Given the description of an element on the screen output the (x, y) to click on. 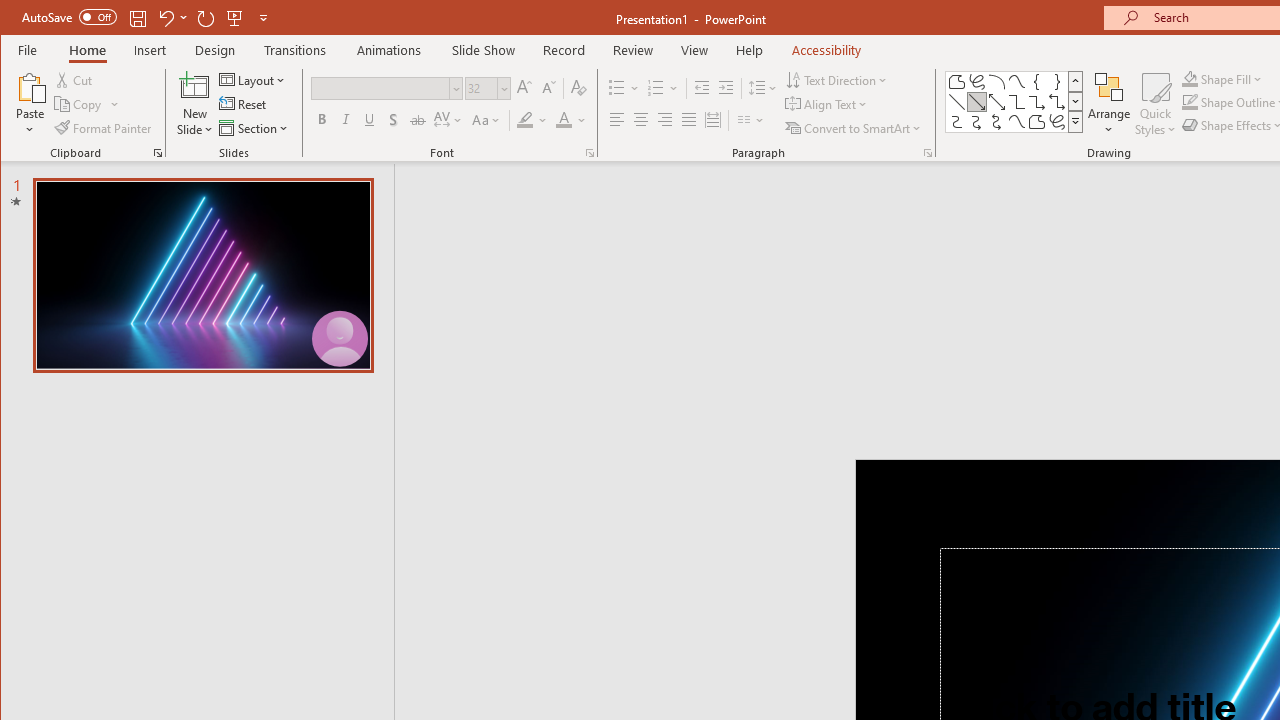
Connector: Curved (956, 121)
